Given the description of an element on the screen output the (x, y) to click on. 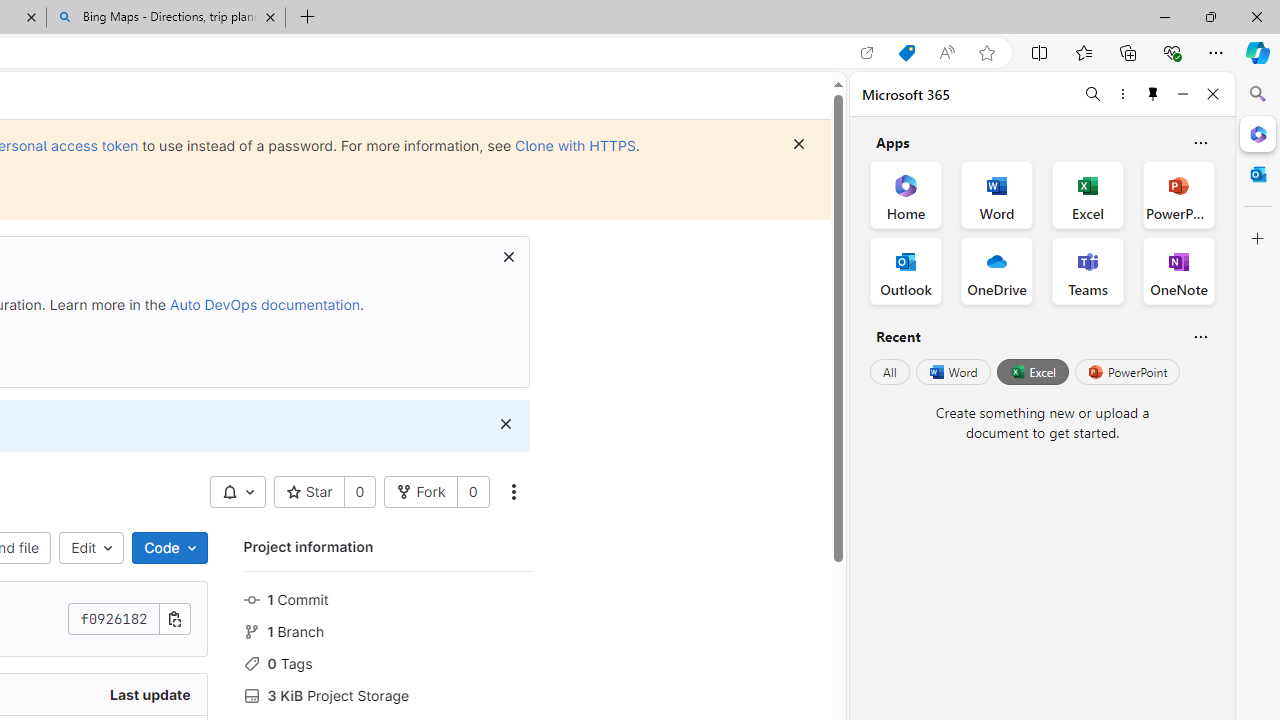
PowerPoint (1127, 372)
3 KiB Project Storage (387, 693)
 Star (308, 491)
Excel (1031, 372)
1 Branch (387, 629)
Class: s16 icon gl-mr-3 gl-text-gray-500 (251, 696)
Dismiss Auto DevOps box (508, 256)
